Given the description of an element on the screen output the (x, y) to click on. 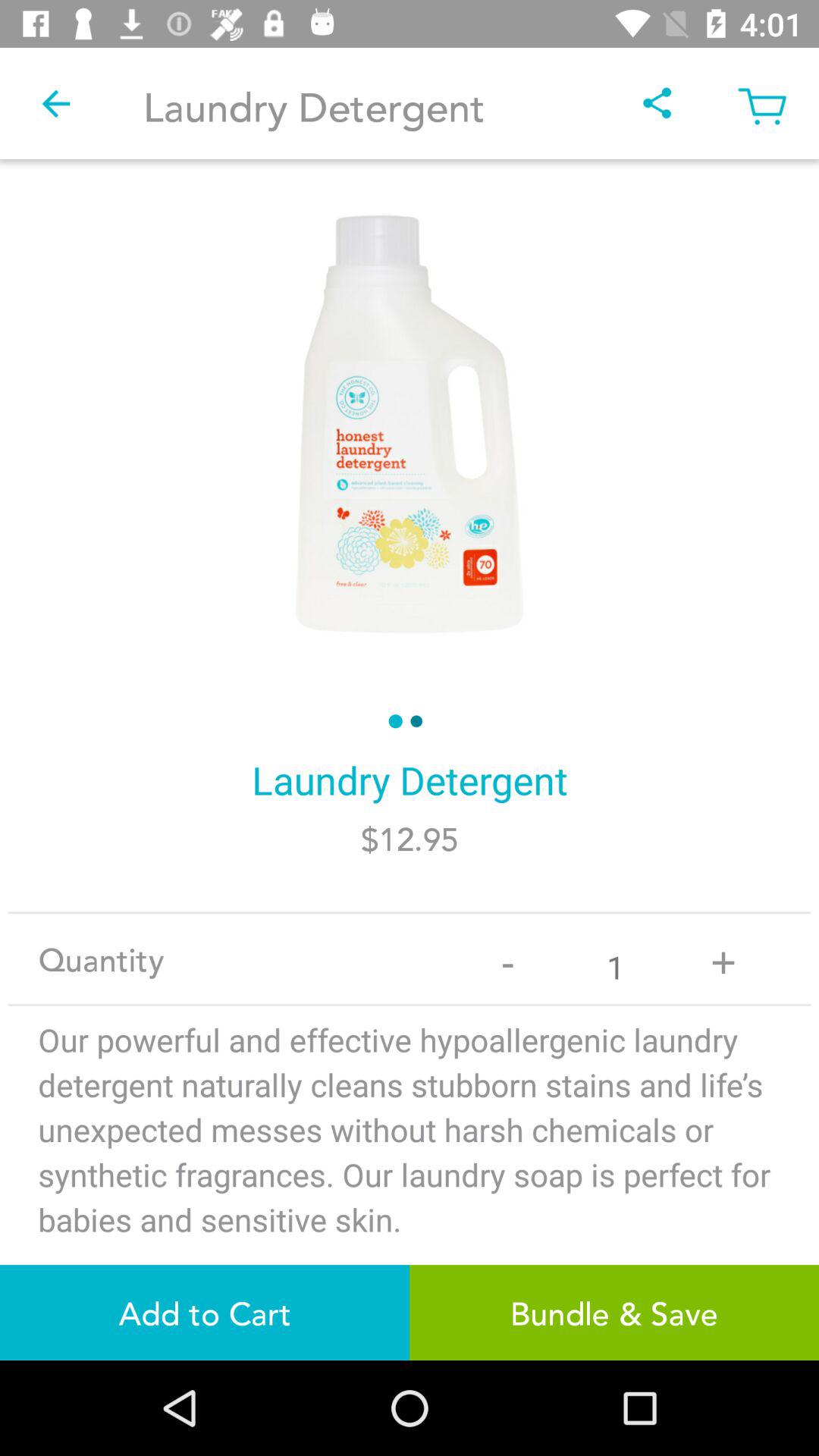
turn on bundle & save (614, 1312)
